Given the description of an element on the screen output the (x, y) to click on. 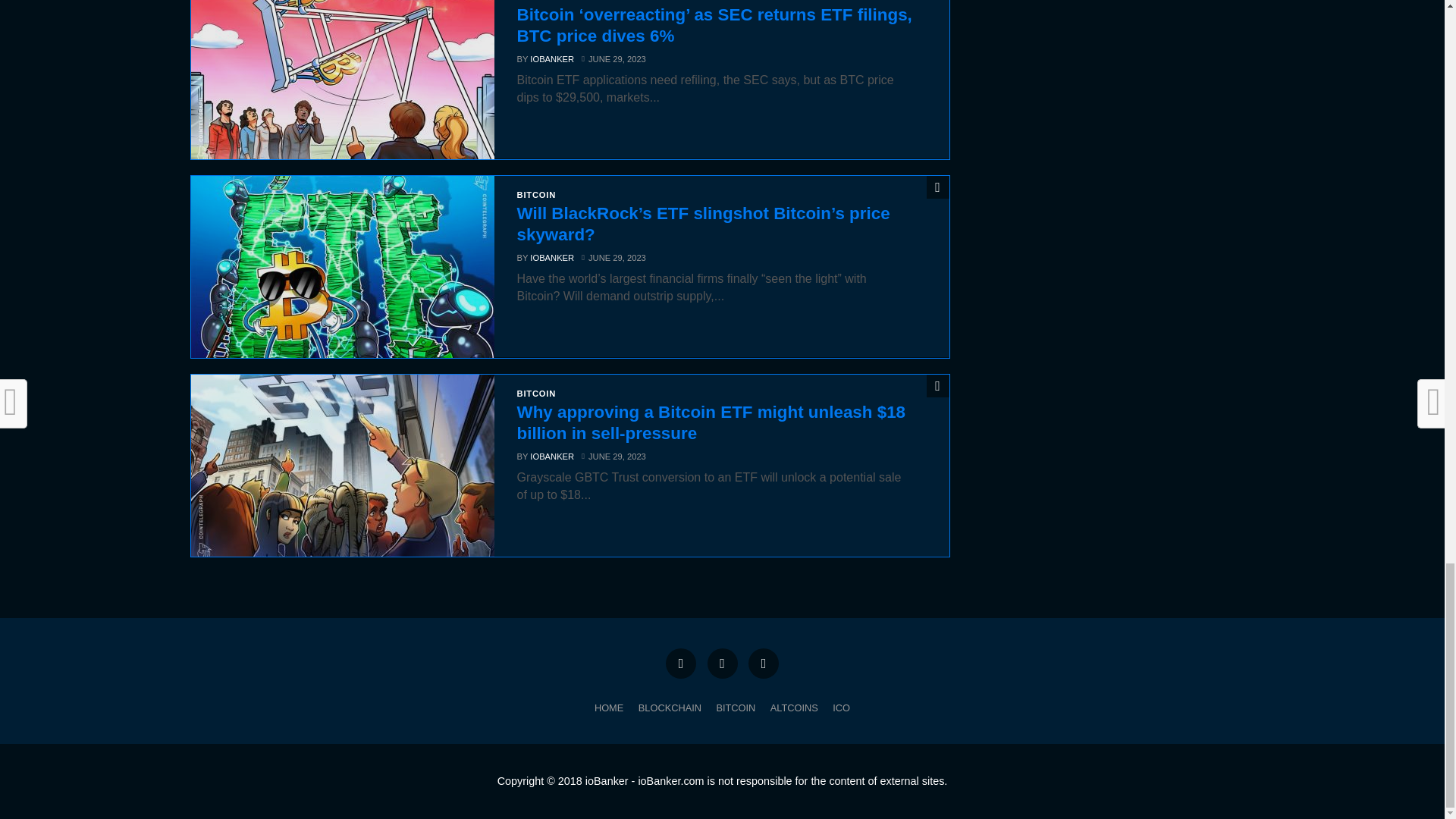
Posts by ioBanker (551, 58)
